Given the description of an element on the screen output the (x, y) to click on. 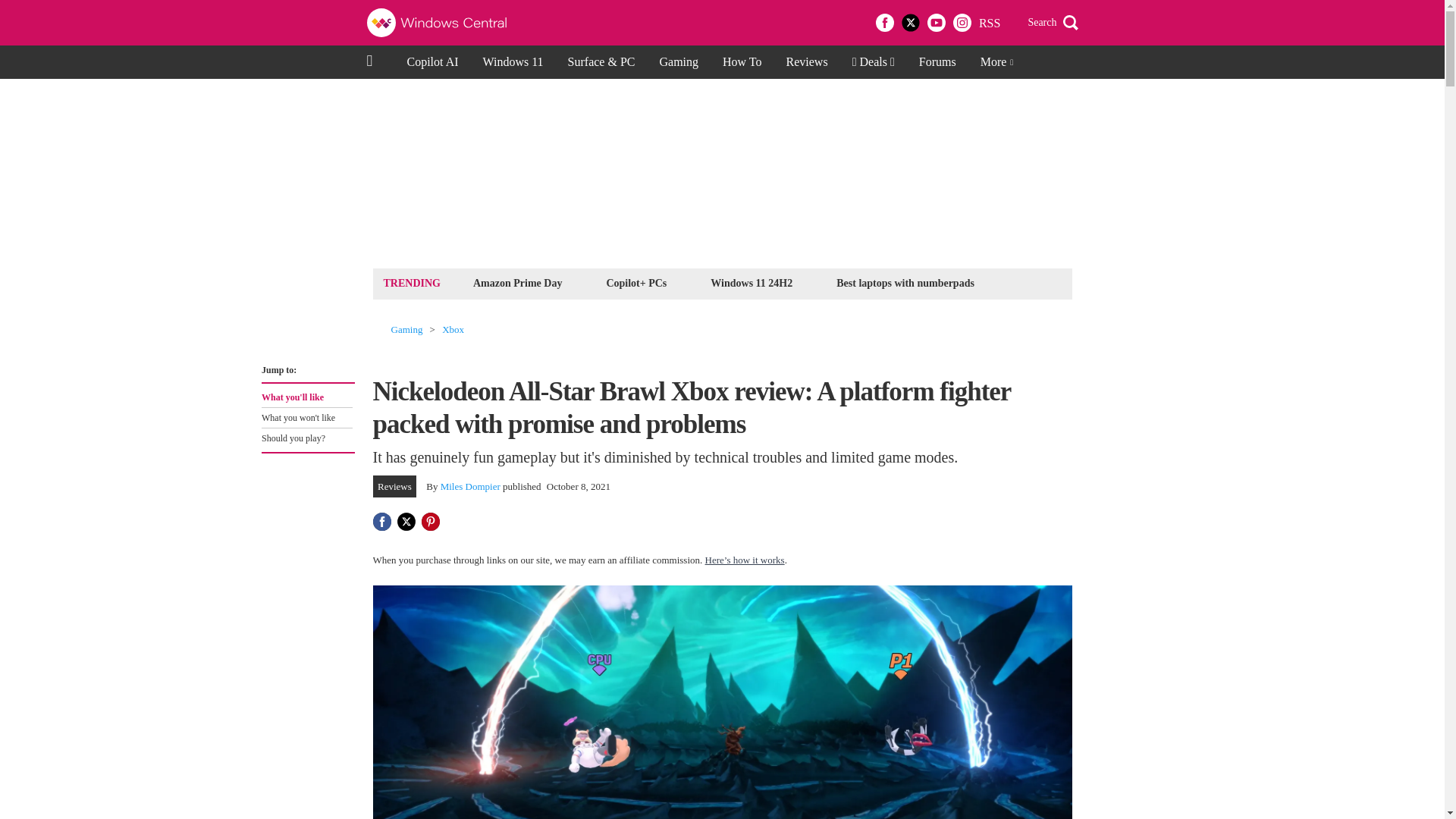
What you'll like (307, 397)
RSS (989, 22)
Gaming (678, 61)
Best laptops with numberpads (905, 282)
Copilot AI (432, 61)
Gaming (407, 328)
Should you play? (307, 437)
Miles Dompier (470, 486)
Forums (308, 417)
How To (937, 61)
Amazon Prime Day (741, 61)
Windows 11 24H2 (517, 282)
What you won't like (750, 282)
